Given the description of an element on the screen output the (x, y) to click on. 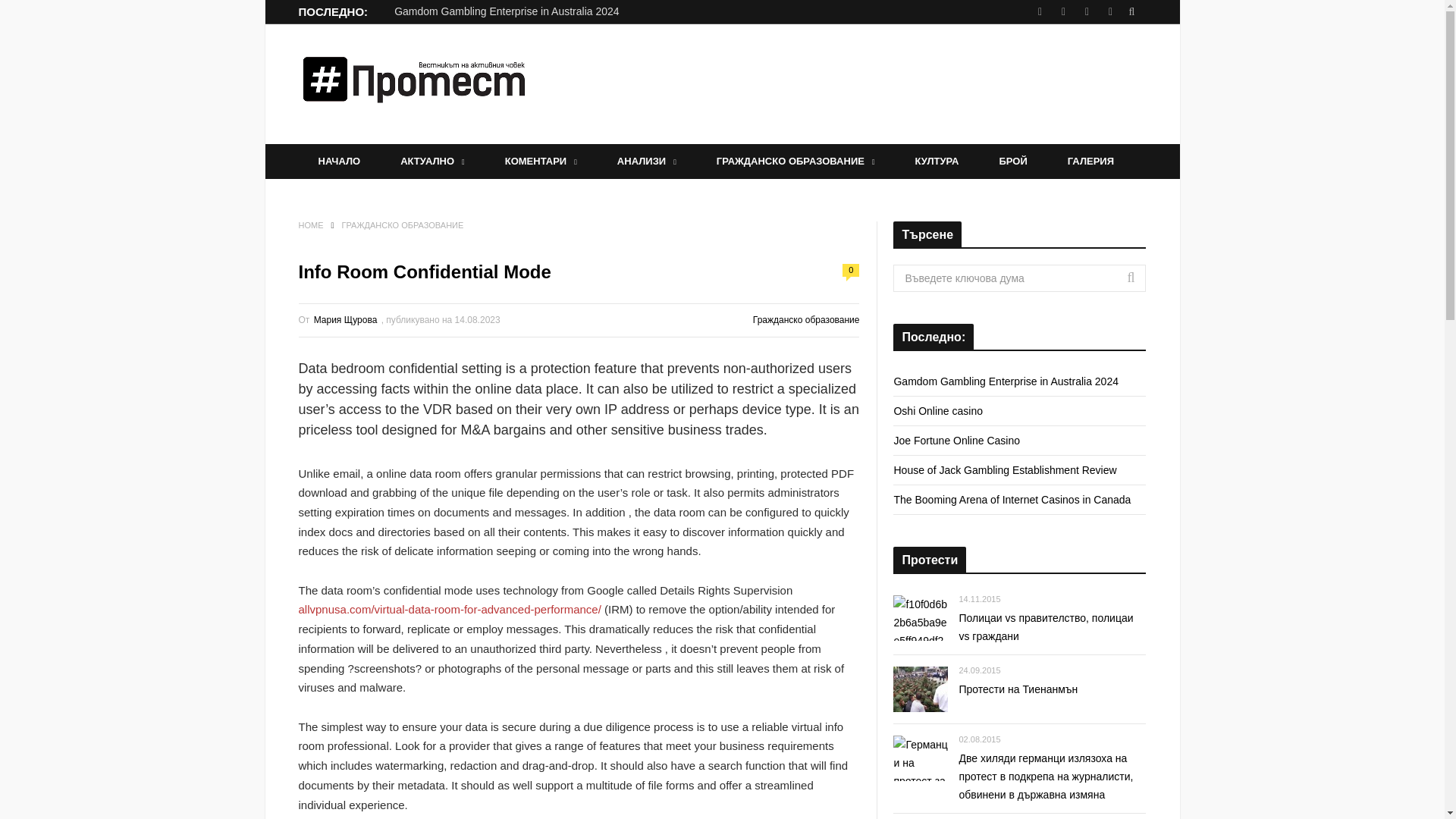
Gamdom Gambling Enterprise in Australia 2024 (506, 10)
Twitter (1109, 11)
Facebook (1039, 11)
RSS (1087, 11)
Facebook (1039, 11)
RSS (1087, 11)
Twitter (1109, 11)
Gamdom  Gambling Enterprise in Australia 2024 (506, 10)
